Given the description of an element on the screen output the (x, y) to click on. 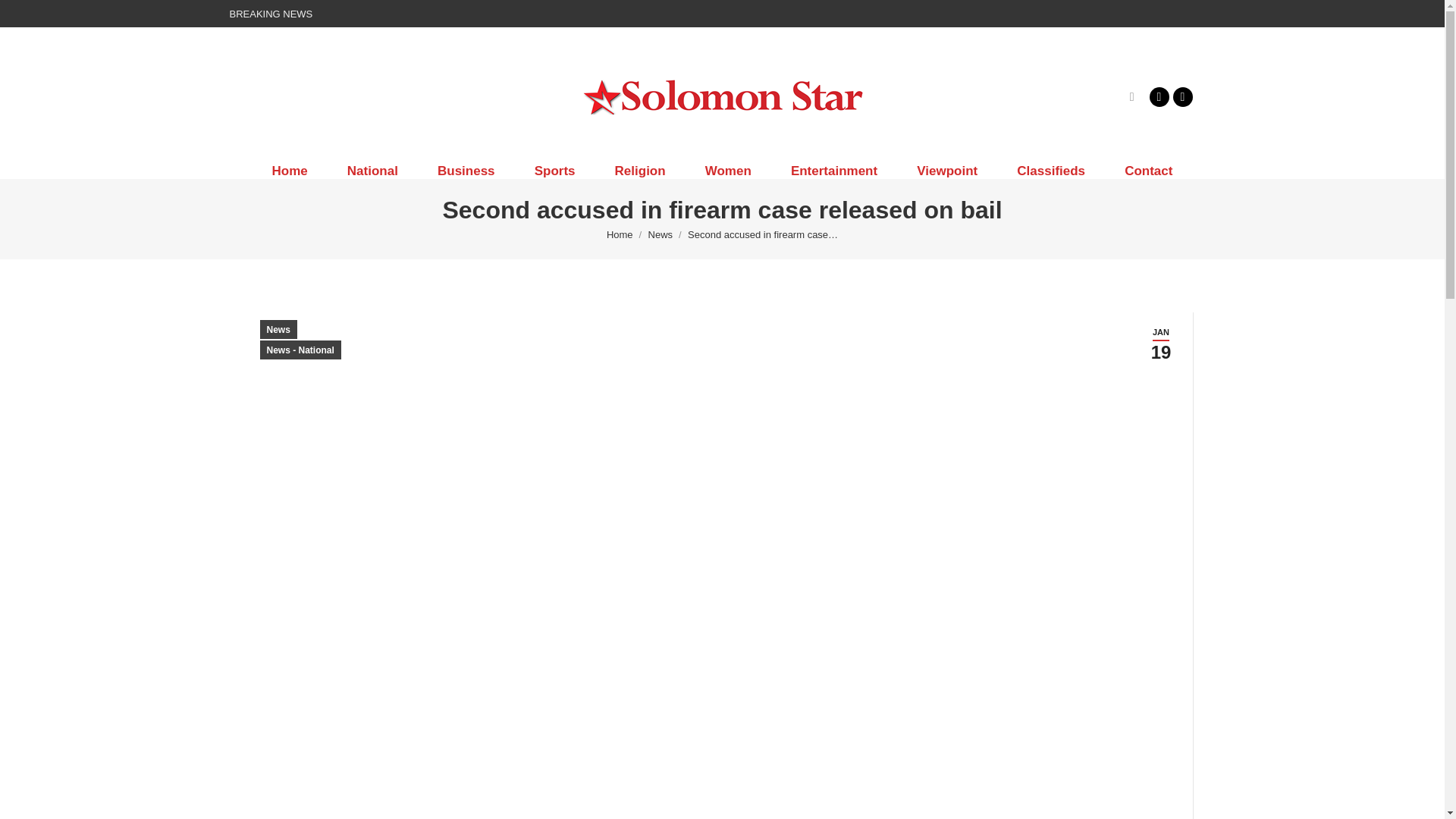
Women (728, 170)
Viewpoint (946, 170)
National (372, 170)
Religion (640, 170)
News - National (299, 349)
X page opens in new window (1182, 96)
X page opens in new window (1182, 96)
Home (288, 170)
Go! (24, 17)
News (659, 234)
